Given the description of an element on the screen output the (x, y) to click on. 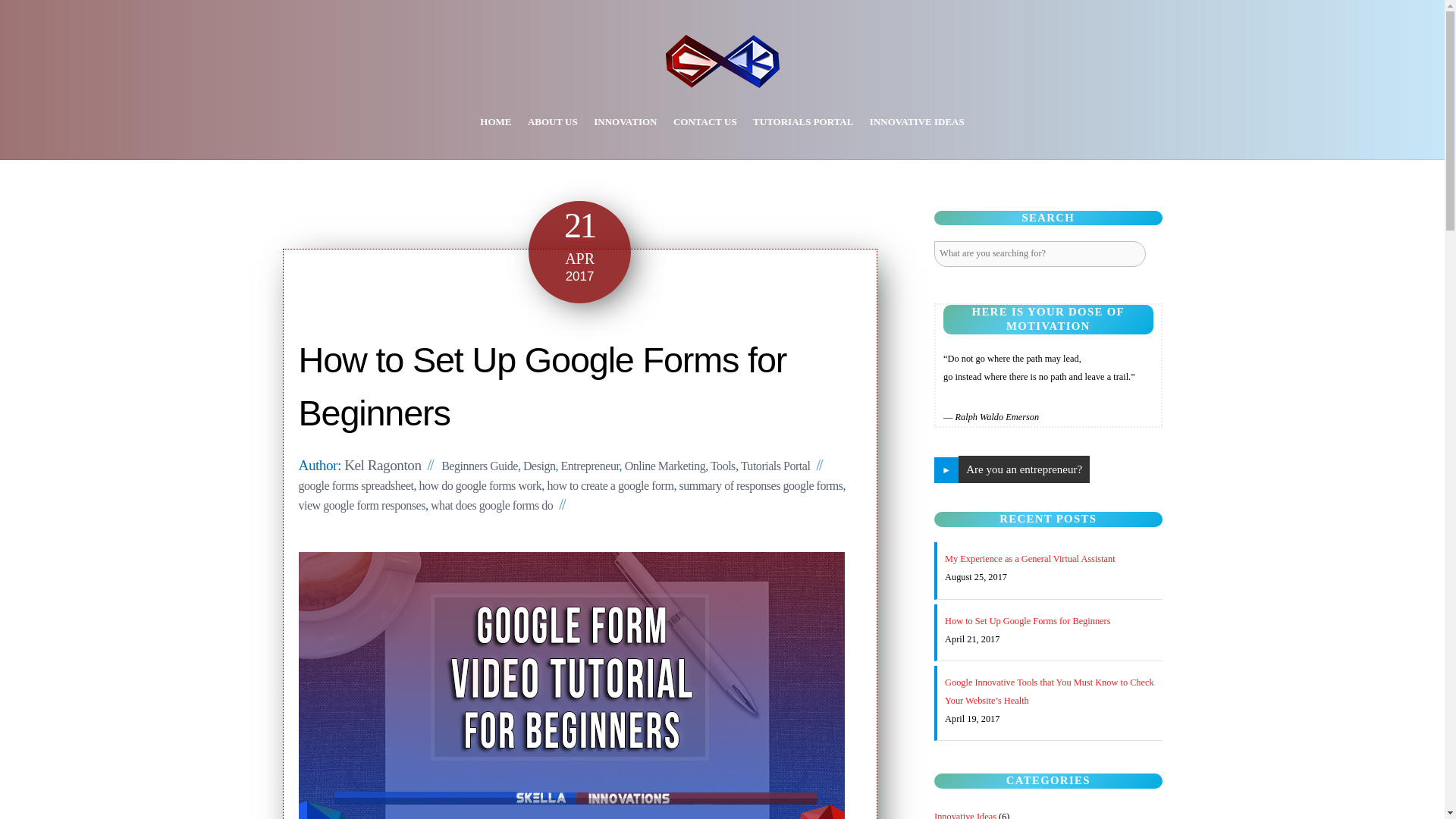
Tools (722, 465)
how to create a google form (609, 485)
Design (538, 465)
Tutorials Portal (775, 465)
How to Set Up Google Forms for Beginners (542, 386)
HOME (495, 121)
Beginners Guide (479, 465)
google forms spreadsheet (355, 485)
TUTORIALS PORTAL (802, 121)
what does google forms do (491, 504)
Online Marketing (665, 465)
ABOUT US (553, 121)
Skella Innovations (721, 76)
view google form responses (361, 504)
INNOVATION (624, 121)
